Given the description of an element on the screen output the (x, y) to click on. 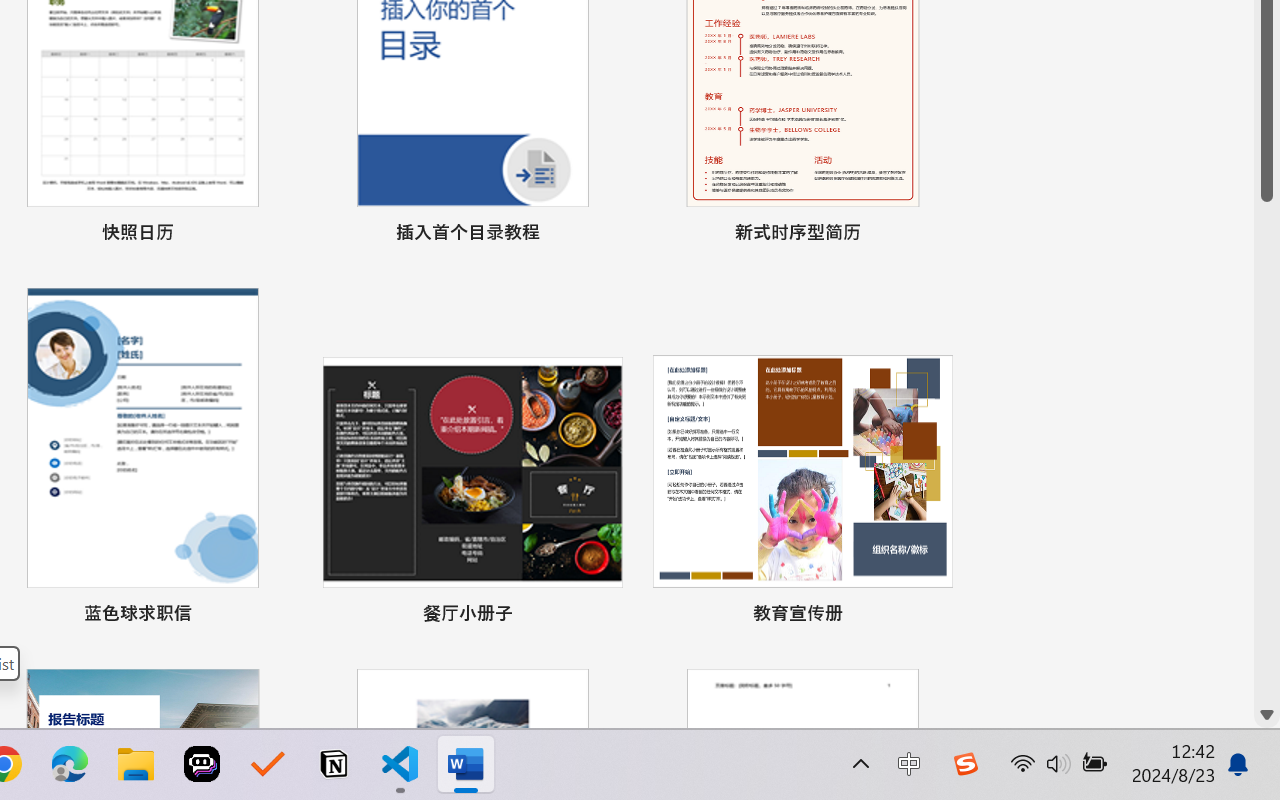
Pin to list (934, 616)
Page down (1267, 451)
Line down (1267, 715)
